Given the description of an element on the screen output the (x, y) to click on. 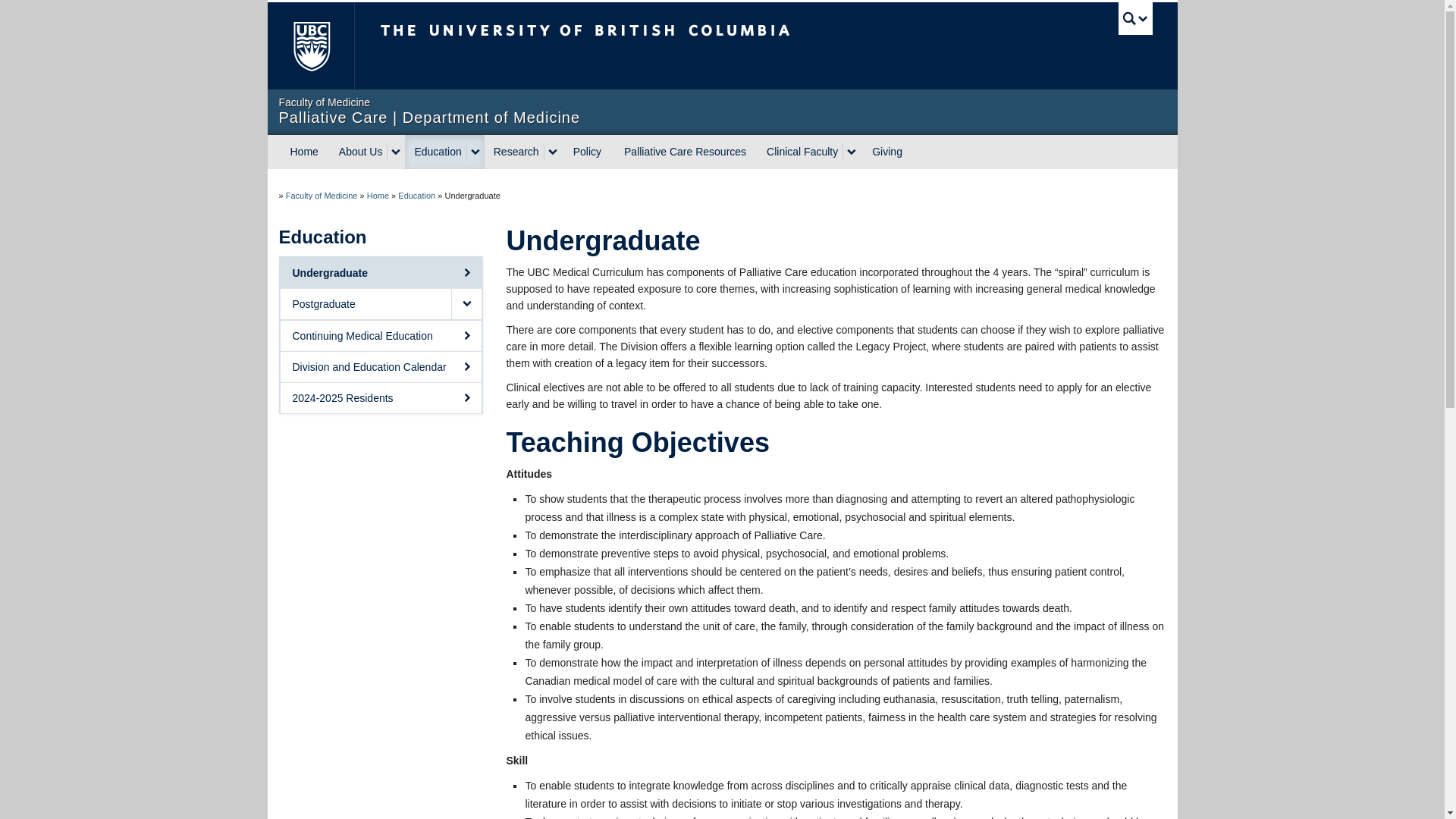
Policy (587, 151)
Home (304, 151)
Palliative Care Resources (684, 151)
Postgraduate (366, 304)
Clinical Faculty (800, 151)
About Us (359, 151)
Research (514, 151)
Giving (887, 151)
Undergraduate (381, 272)
Palliative Care (377, 194)
Faculty of Medicine (321, 194)
The University of British Columbia (309, 45)
The University of British Columbia (635, 45)
UBC Search (1135, 18)
Education (434, 151)
